Given the description of an element on the screen output the (x, y) to click on. 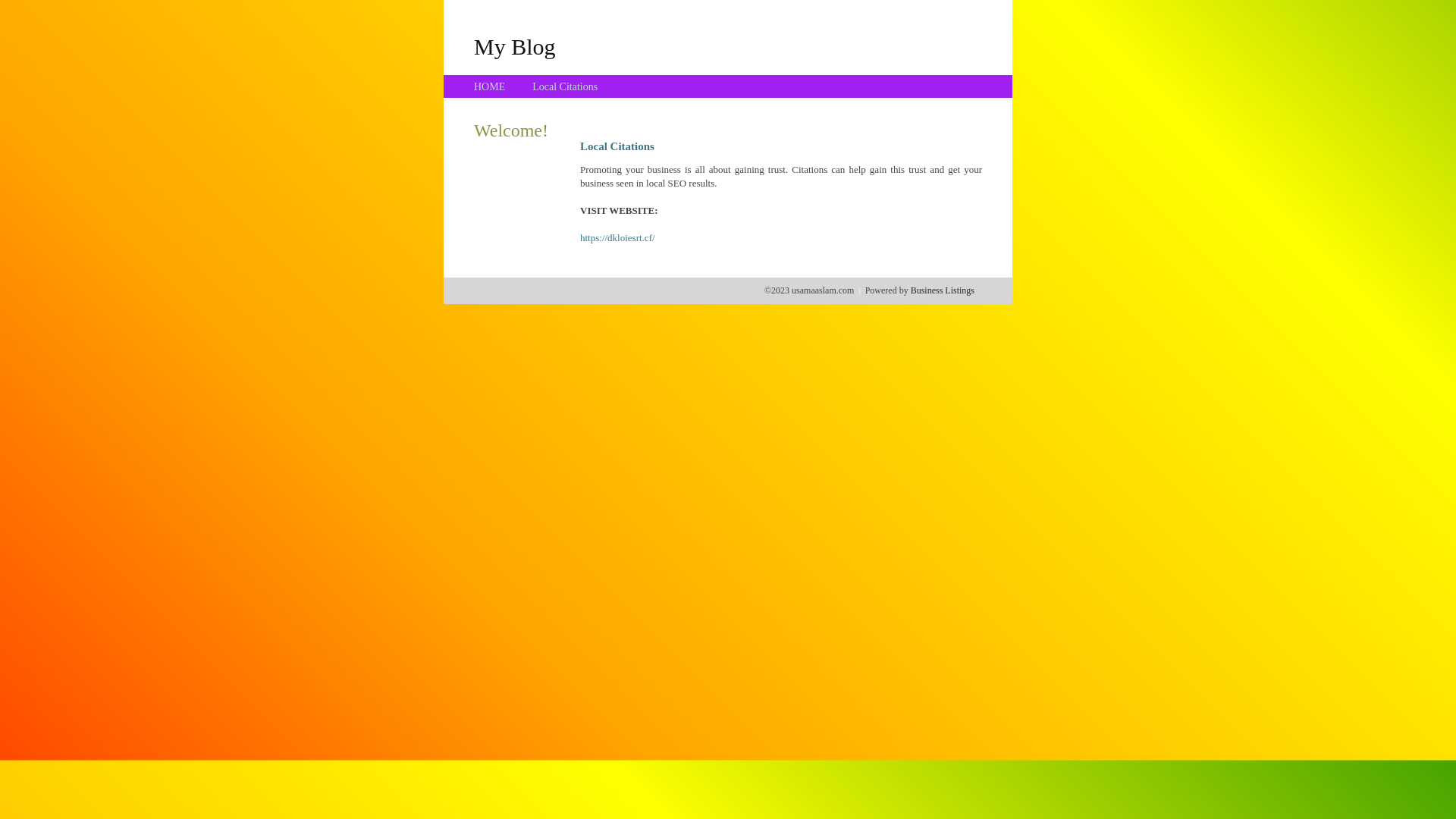
Business Listings Element type: text (942, 290)
HOME Element type: text (489, 86)
My Blog Element type: text (514, 46)
https://dkloiesrt.cf/ Element type: text (617, 237)
Local Citations Element type: text (564, 86)
